Given the description of an element on the screen output the (x, y) to click on. 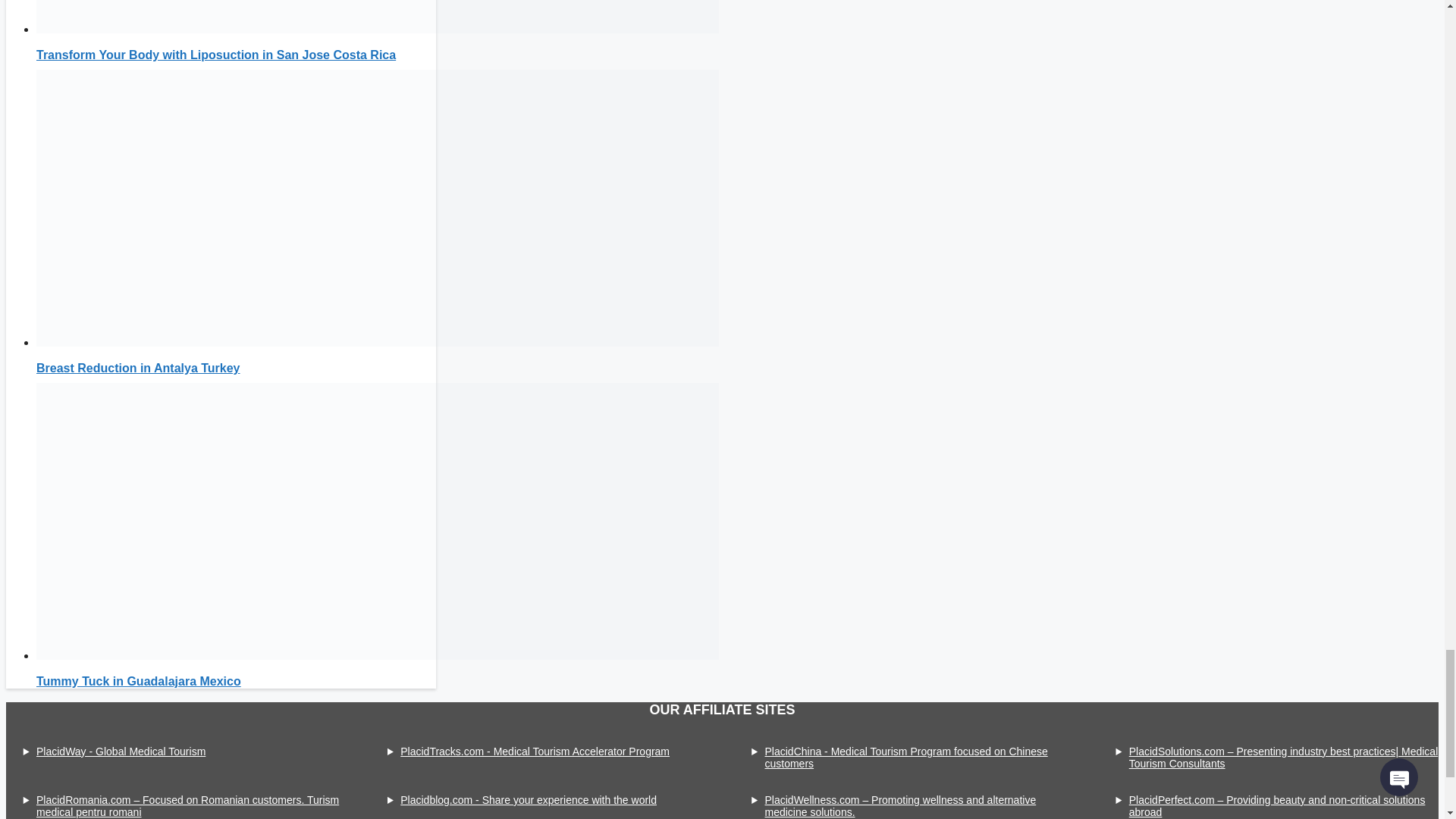
Tummy Tuck in Guadalajara Mexico (138, 680)
Tummy Tuck in Guadalajara Mexico (377, 655)
Transform Your Body with Liposuction in San Jose Costa Rica (216, 54)
Transform Your Body with Liposuction in San Jose Costa Rica (377, 29)
Breast Reduction in Antalya Turkey (138, 367)
Breast Reduction in Antalya Turkey (377, 341)
